Given the description of an element on the screen output the (x, y) to click on. 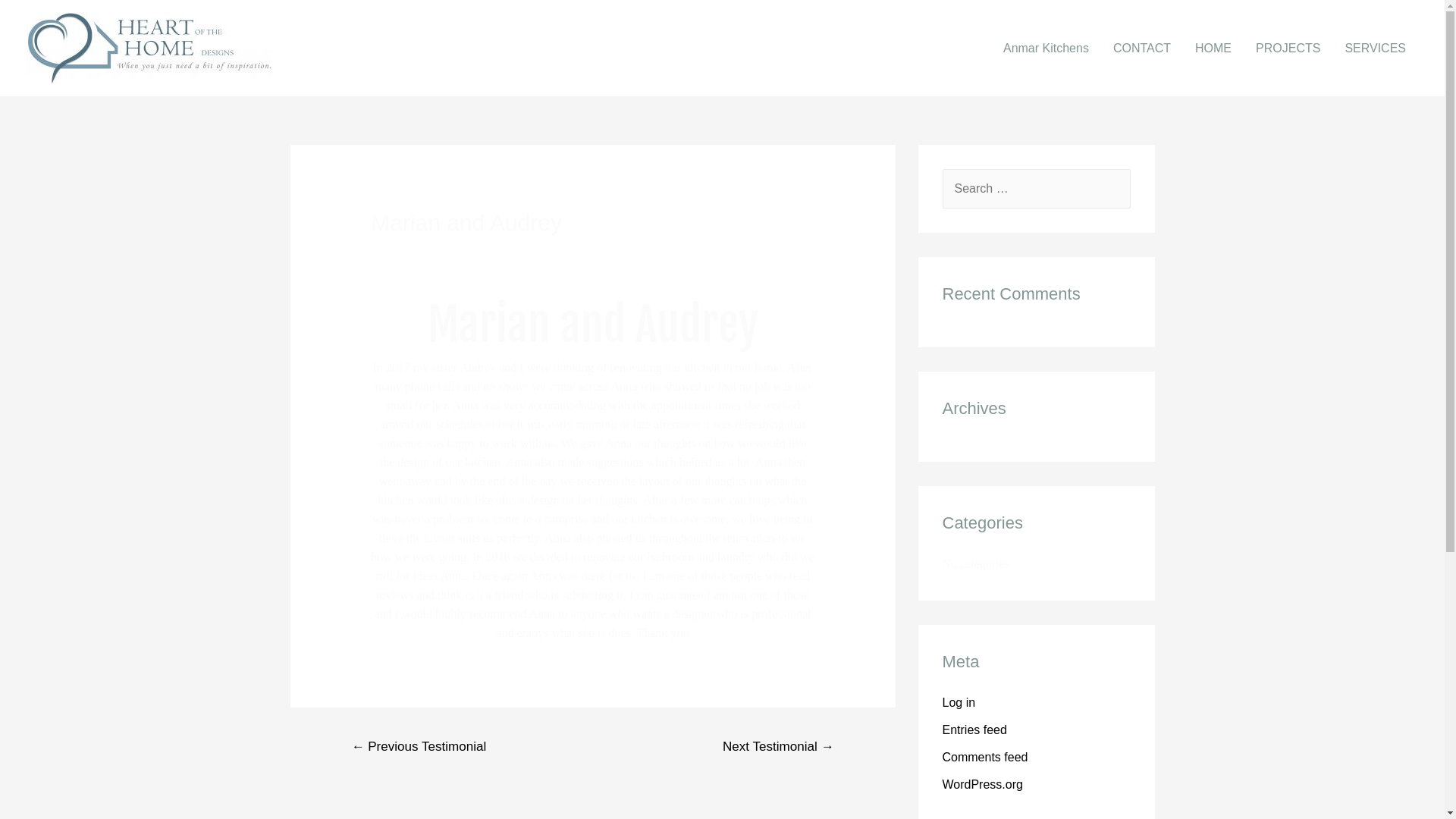
CONTACT Element type: text (1142, 48)
SERVICES Element type: text (1375, 48)
Search Element type: text (1113, 190)
HOME Element type: text (1213, 48)
Anmar Kitchens Element type: text (1046, 48)
PROJECTS Element type: text (1287, 48)
WordPress.org Element type: text (981, 784)
Entries feed Element type: text (973, 729)
Log in Element type: text (958, 702)
Comments feed Element type: text (984, 756)
